Given the description of an element on the screen output the (x, y) to click on. 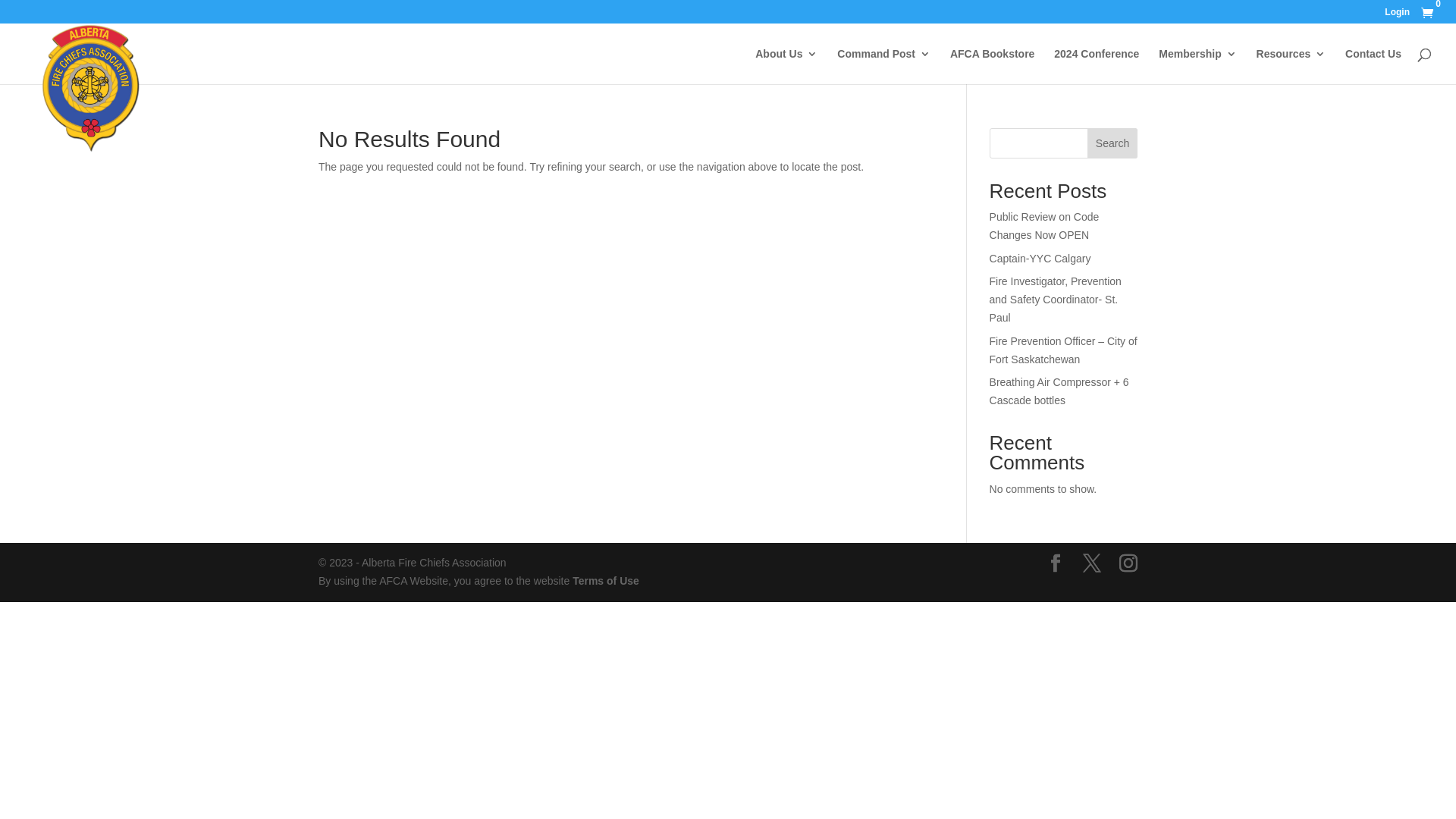
Command Post Element type: text (883, 66)
Login Element type: text (1396, 15)
Public Review on Code Changes Now OPEN Element type: text (1044, 225)
Contact Us Element type: text (1373, 66)
AFCA Bookstore Element type: text (992, 66)
Terms of Use Element type: text (605, 580)
Captain-YYC Calgary Element type: text (1040, 258)
About Us Element type: text (786, 66)
Membership Element type: text (1197, 66)
Resources Element type: text (1291, 66)
Search Element type: text (1112, 143)
2024 Conference Element type: text (1096, 66)
Breathing Air Compressor + 6 Cascade bottles Element type: text (1059, 391)
